Given the description of an element on the screen output the (x, y) to click on. 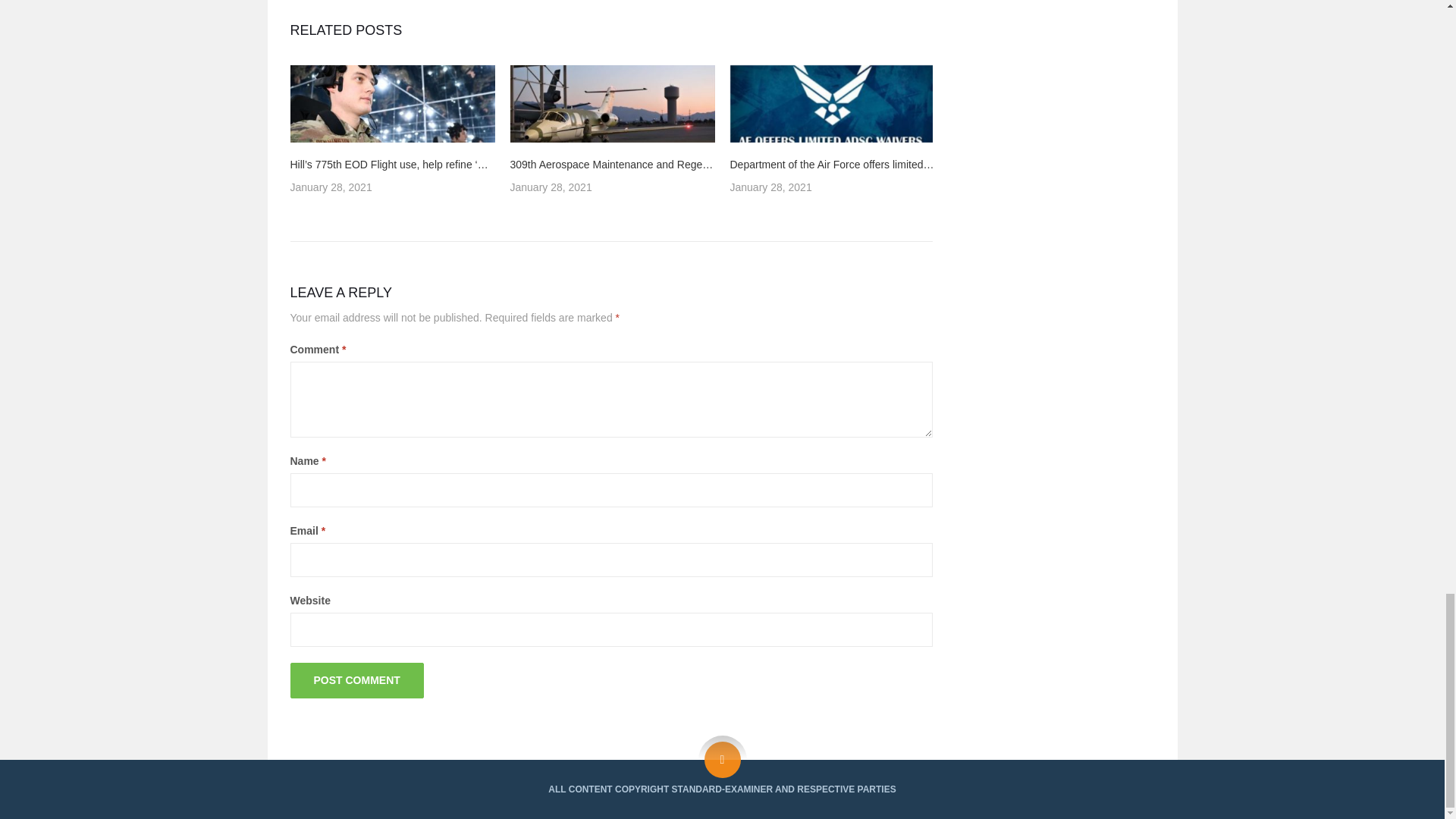
601323bd09268.image (611, 103)
6013246a86439.image (831, 103)
601322534460b.image (392, 103)
Post Comment (356, 680)
